Given the description of an element on the screen output the (x, y) to click on. 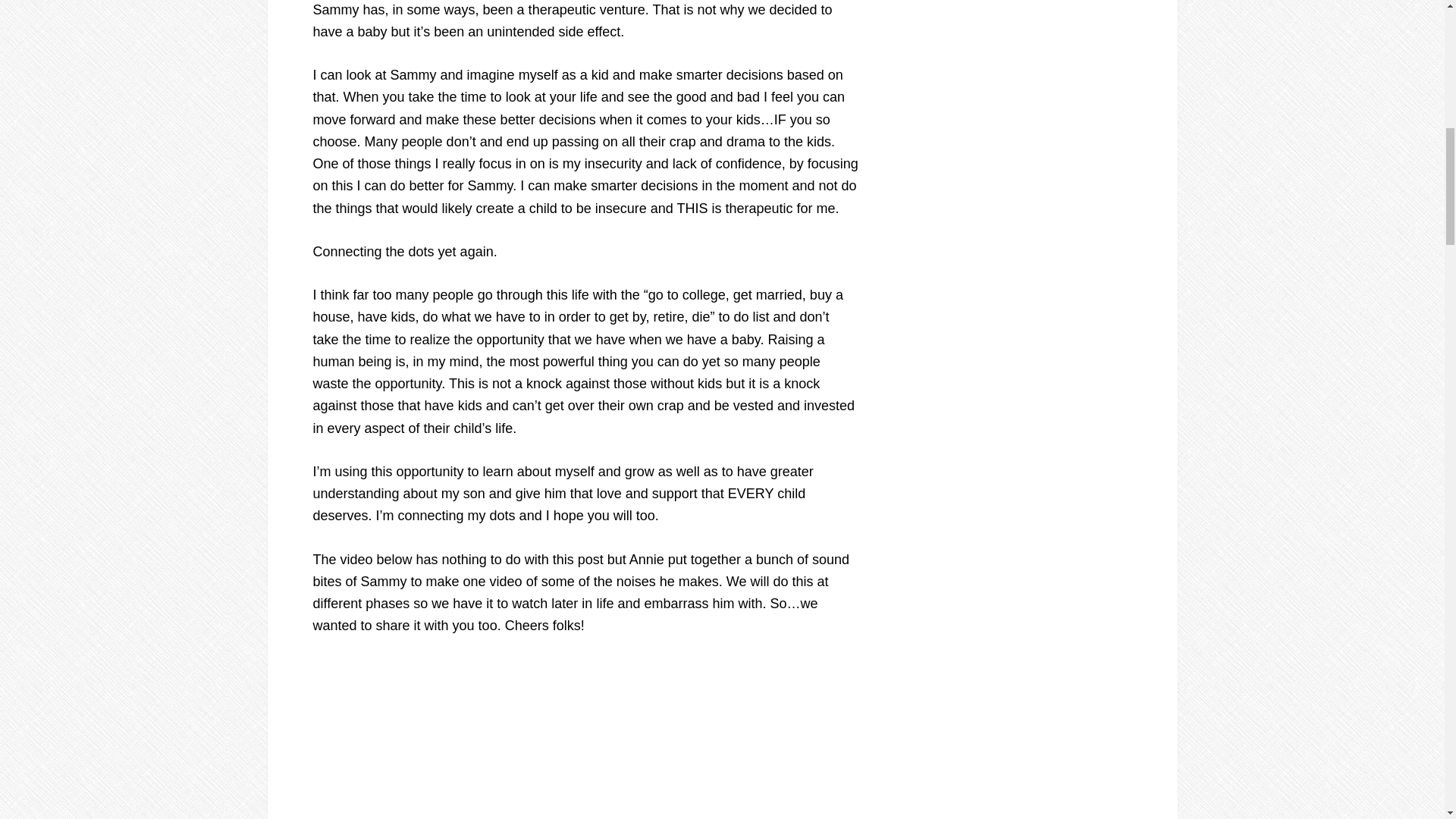
Sammy0 3 (502, 739)
